Given the description of an element on the screen output the (x, y) to click on. 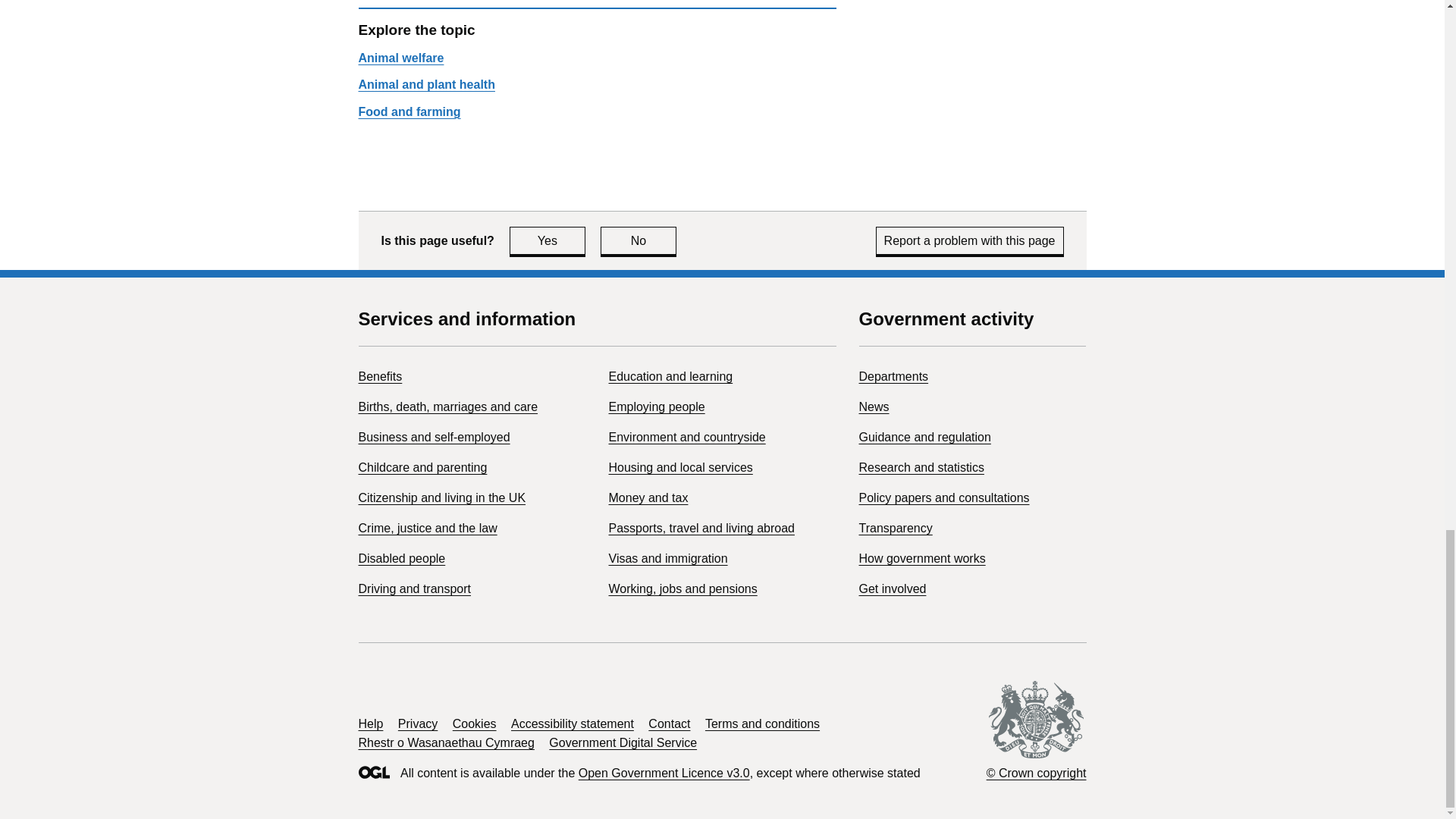
Animal and plant health (426, 83)
Business and self-employed (433, 436)
Housing and local services (680, 467)
Disabled people (401, 558)
Report a problem with this page (970, 240)
Births, death, marriages and care (447, 406)
Driving and transport (414, 588)
Crime, justice and the law (547, 240)
Animal welfare (427, 527)
Environment and countryside (401, 57)
Childcare and parenting (686, 436)
Employing people (422, 467)
Citizenship and living in the UK (656, 406)
Benefits (441, 497)
